Given the description of an element on the screen output the (x, y) to click on. 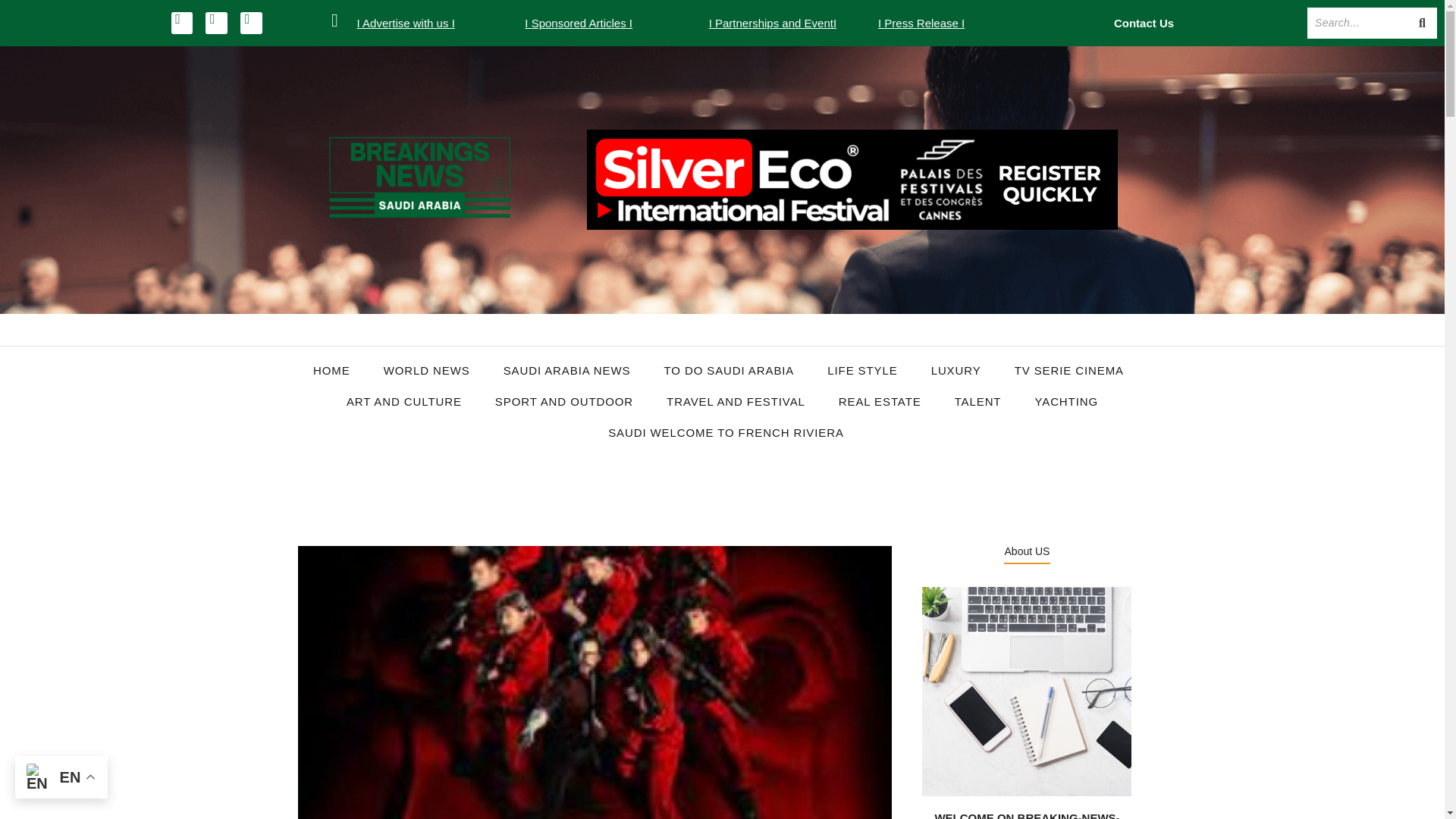
YACHTING (1065, 401)
WORLD NEWS (426, 369)
HOME (331, 369)
TALENT (977, 401)
TRAVEL AND FESTIVAL (735, 401)
SAUDI WELCOME TO FRENCH RIVIERA (725, 431)
LIFE STYLE (861, 369)
I Sponsored Articles I (577, 22)
SAUDI ARABIA NEWS (567, 369)
Silver Eco International Festival (852, 179)
